Given the description of an element on the screen output the (x, y) to click on. 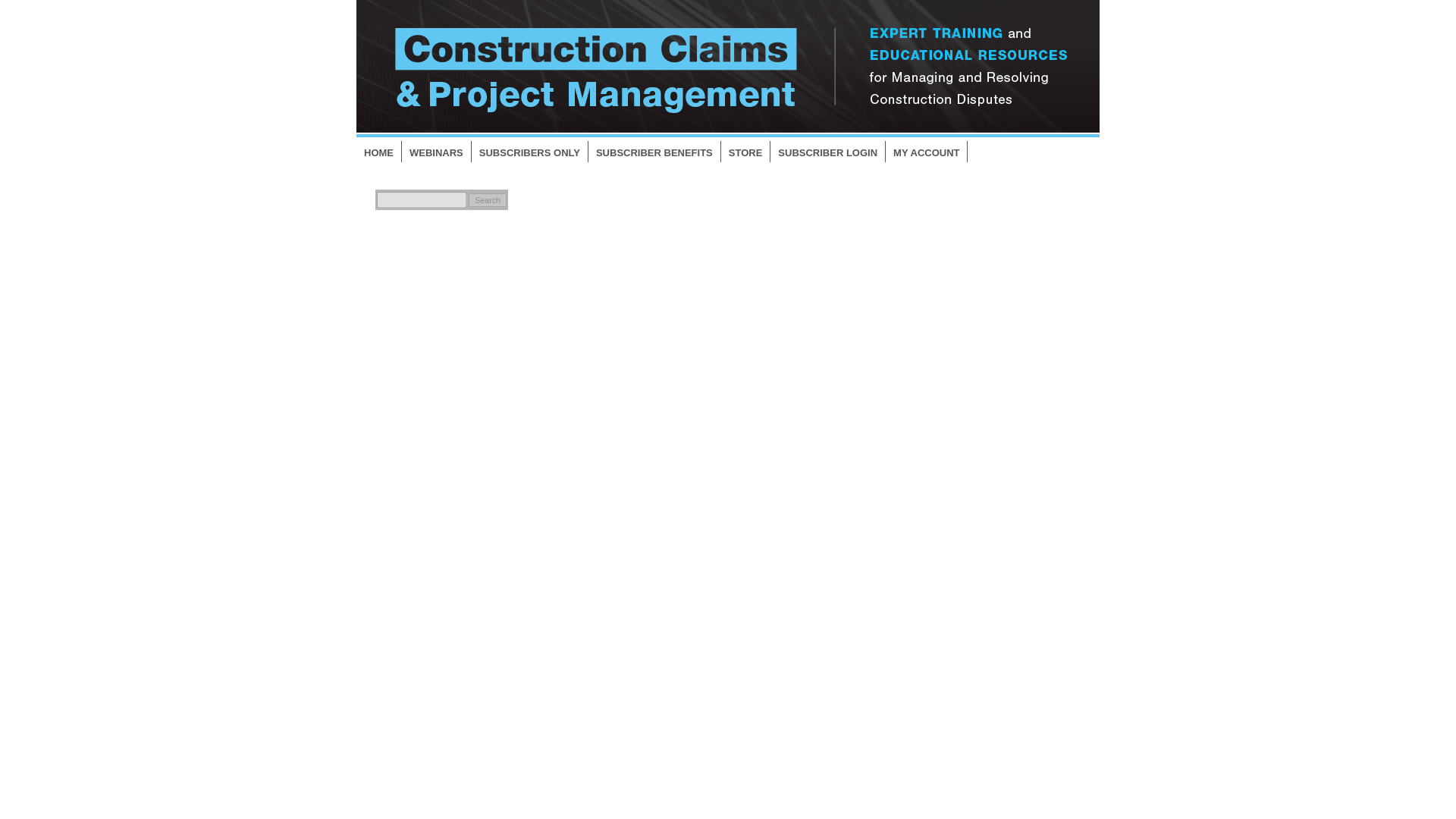
WEBINARS (436, 151)
Search (487, 200)
SUBSCRIBERS ONLY (529, 151)
About Us (959, 657)
MY ACCOUNT (926, 151)
HOME (378, 151)
Contact Us (963, 680)
Privacy Policy (970, 703)
Search (487, 200)
STORE (745, 151)
